Given the description of an element on the screen output the (x, y) to click on. 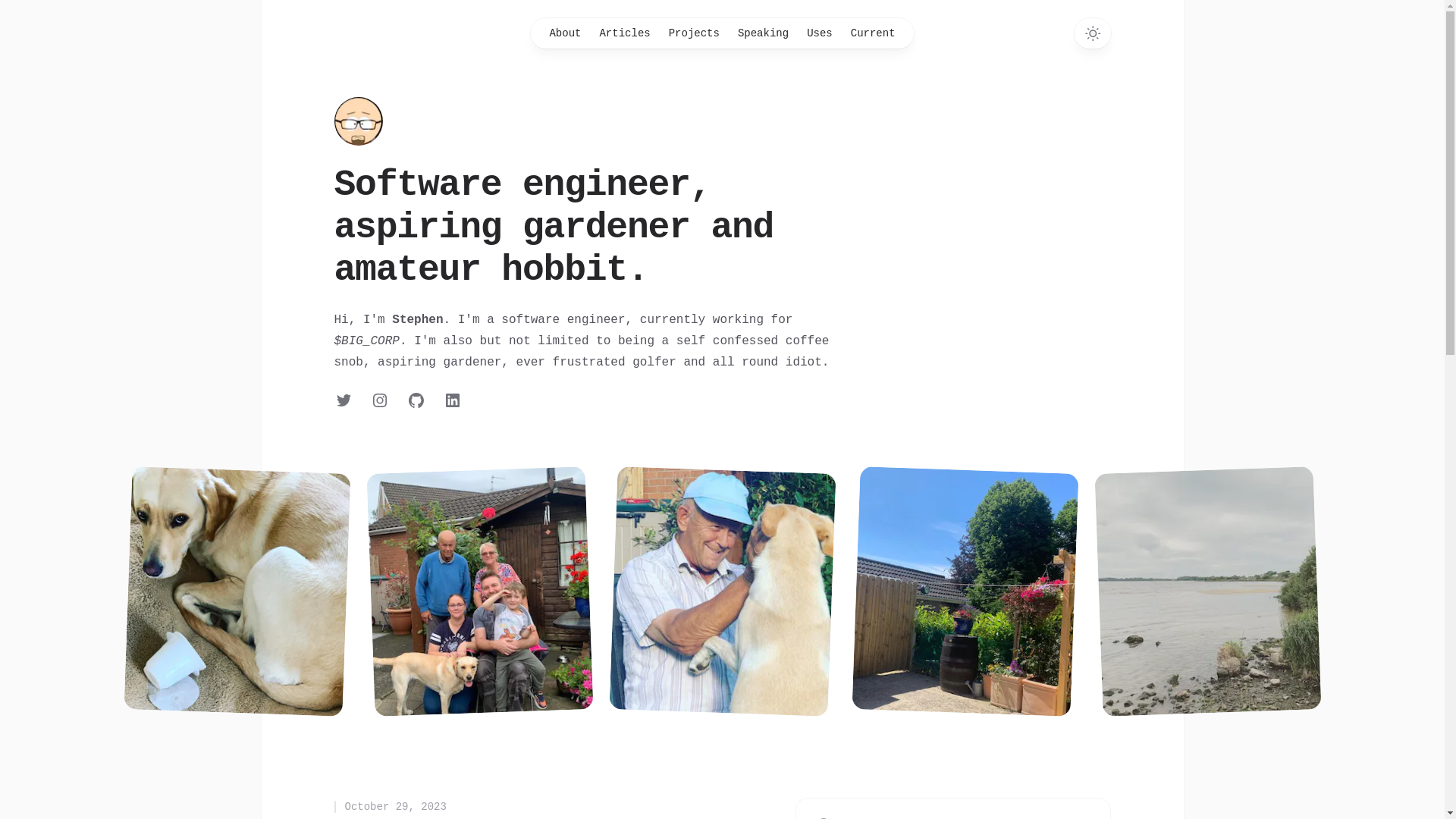
Articles Element type: text (623, 33)
Uses Element type: text (819, 33)
About Element type: text (564, 33)
Speaking Element type: text (762, 33)
Projects Element type: text (693, 33)
Current Element type: text (872, 33)
